Given the description of an element on the screen output the (x, y) to click on. 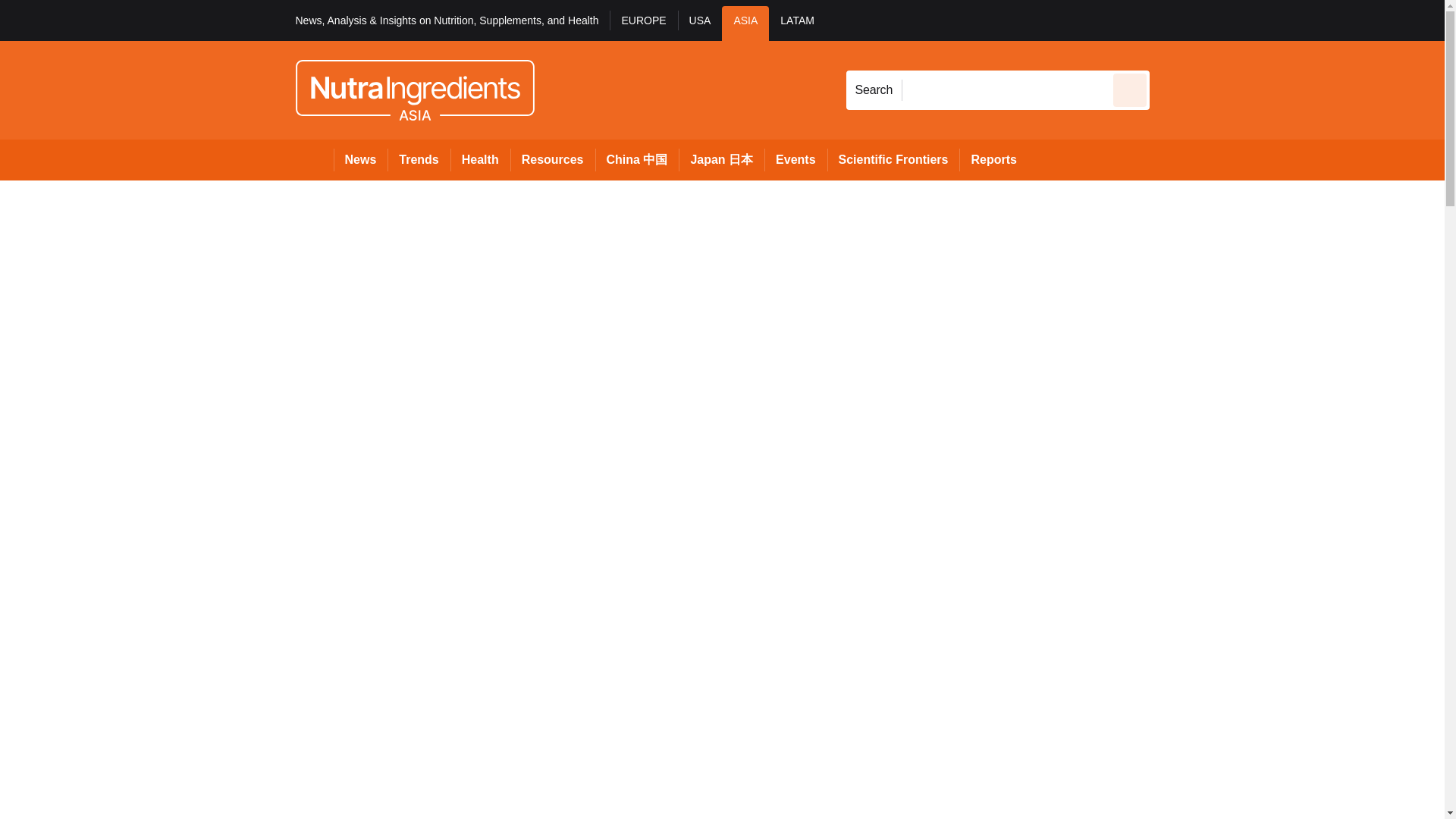
NutraIngredients Asia (414, 89)
USA (700, 22)
SUBSCRIBE (1362, 20)
Register (1231, 20)
My account (1256, 20)
Send (1129, 89)
Sign out (1174, 20)
News (360, 159)
Send (1129, 90)
Sign in (1171, 20)
